Given the description of an element on the screen output the (x, y) to click on. 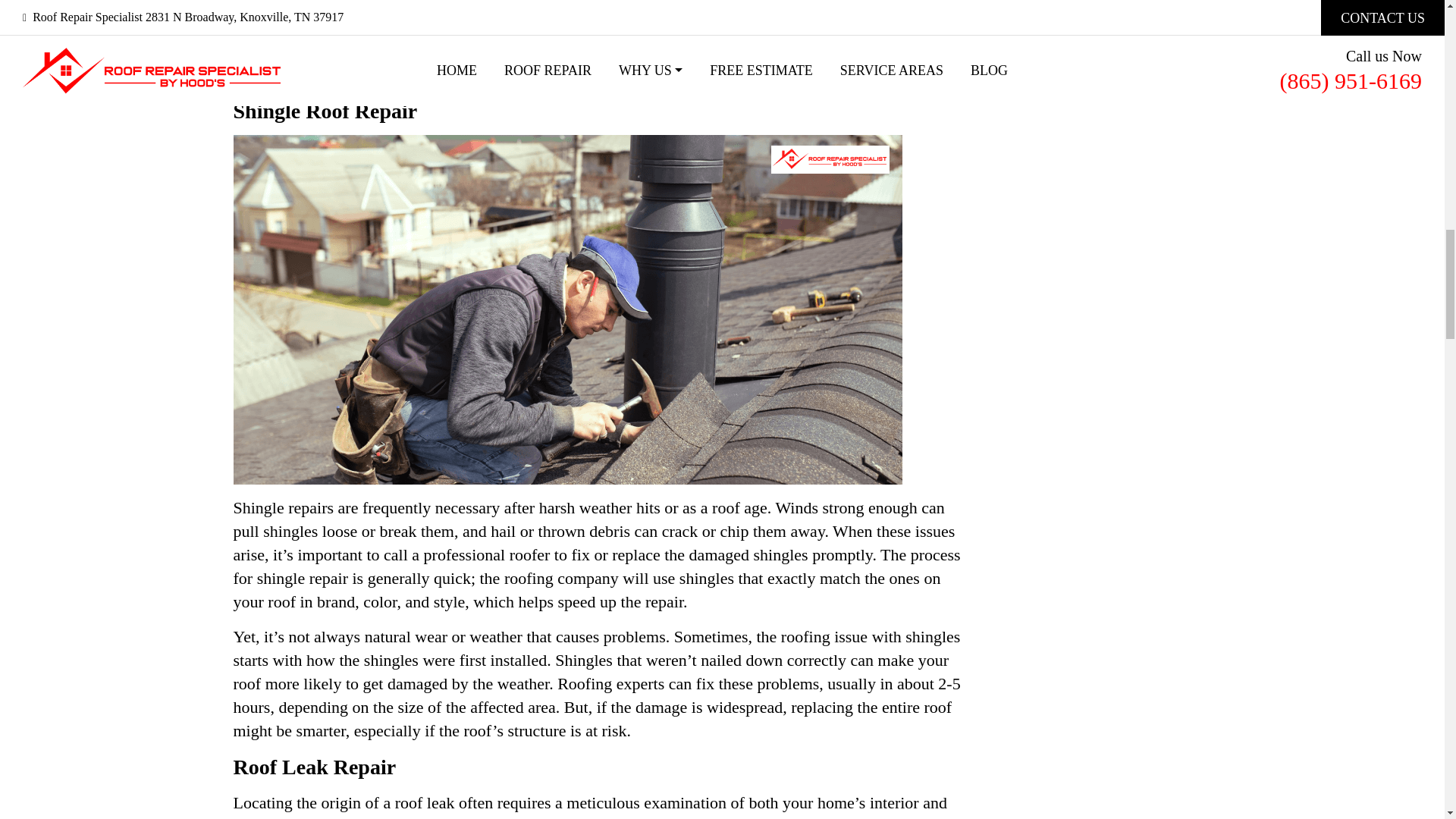
Call Now! (597, 8)
